Given the description of an element on the screen output the (x, y) to click on. 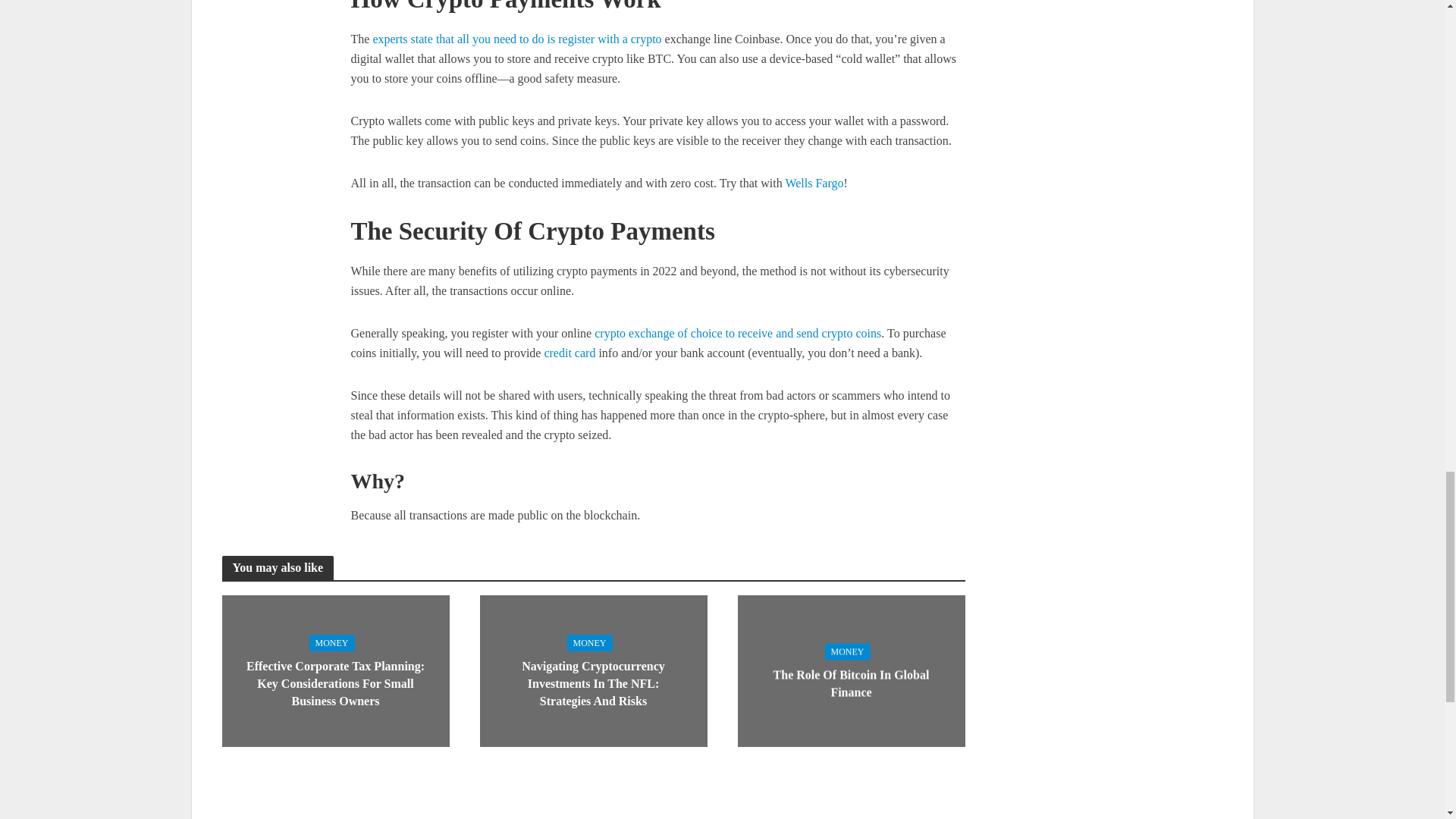
The Role Of Bitcoin In Global Finance (849, 668)
